Given the description of an element on the screen output the (x, y) to click on. 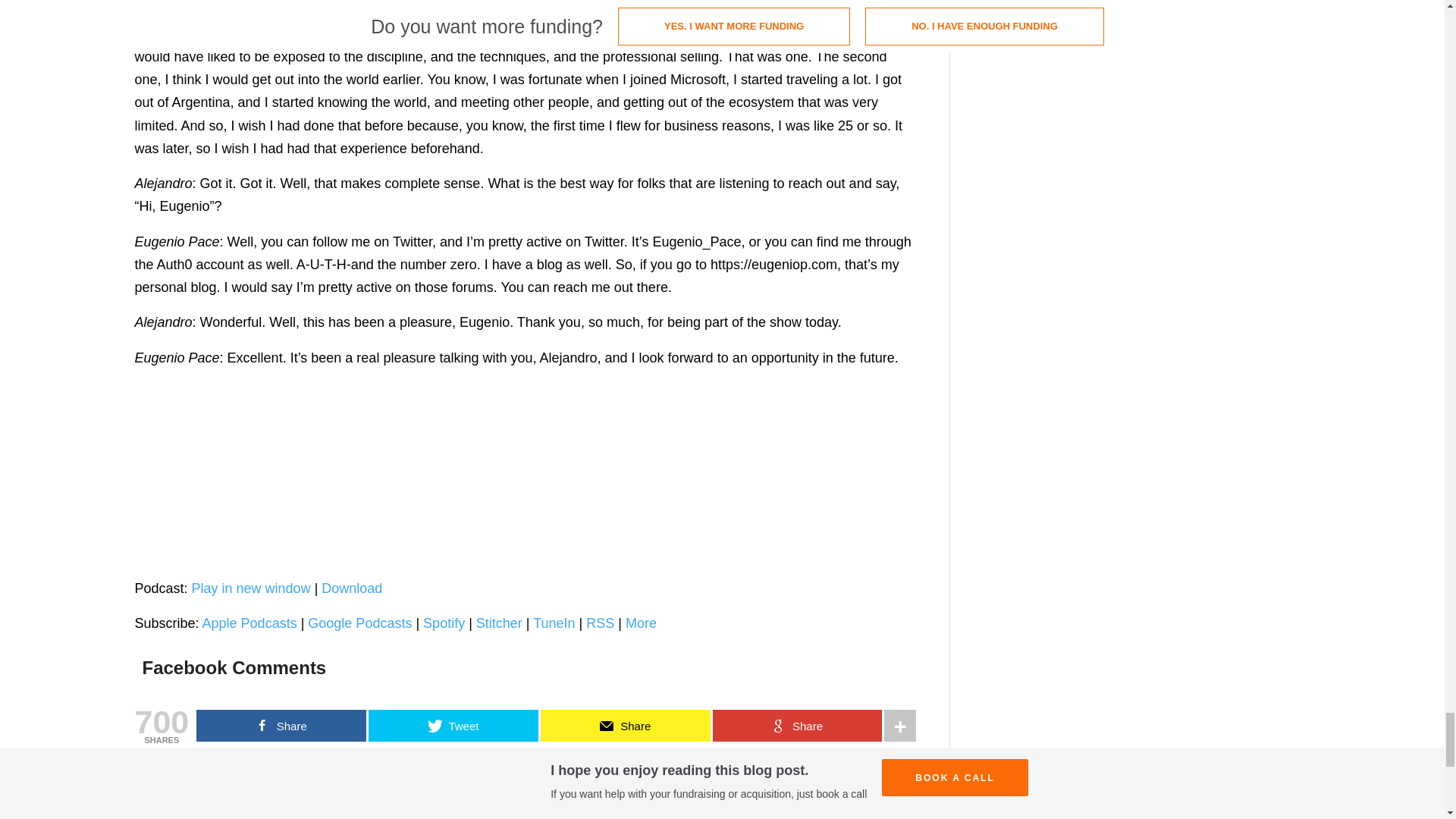
Play in new window (251, 588)
Subscribe on TuneIn (553, 622)
Subscribe on Google Podcasts (359, 622)
Subscribe on Stitcher (499, 622)
Subscribe via RSS (600, 622)
More (641, 622)
Subscribe on Spotify (443, 622)
Subscribe on Apple Podcasts (249, 622)
Download (351, 588)
